Given the description of an element on the screen output the (x, y) to click on. 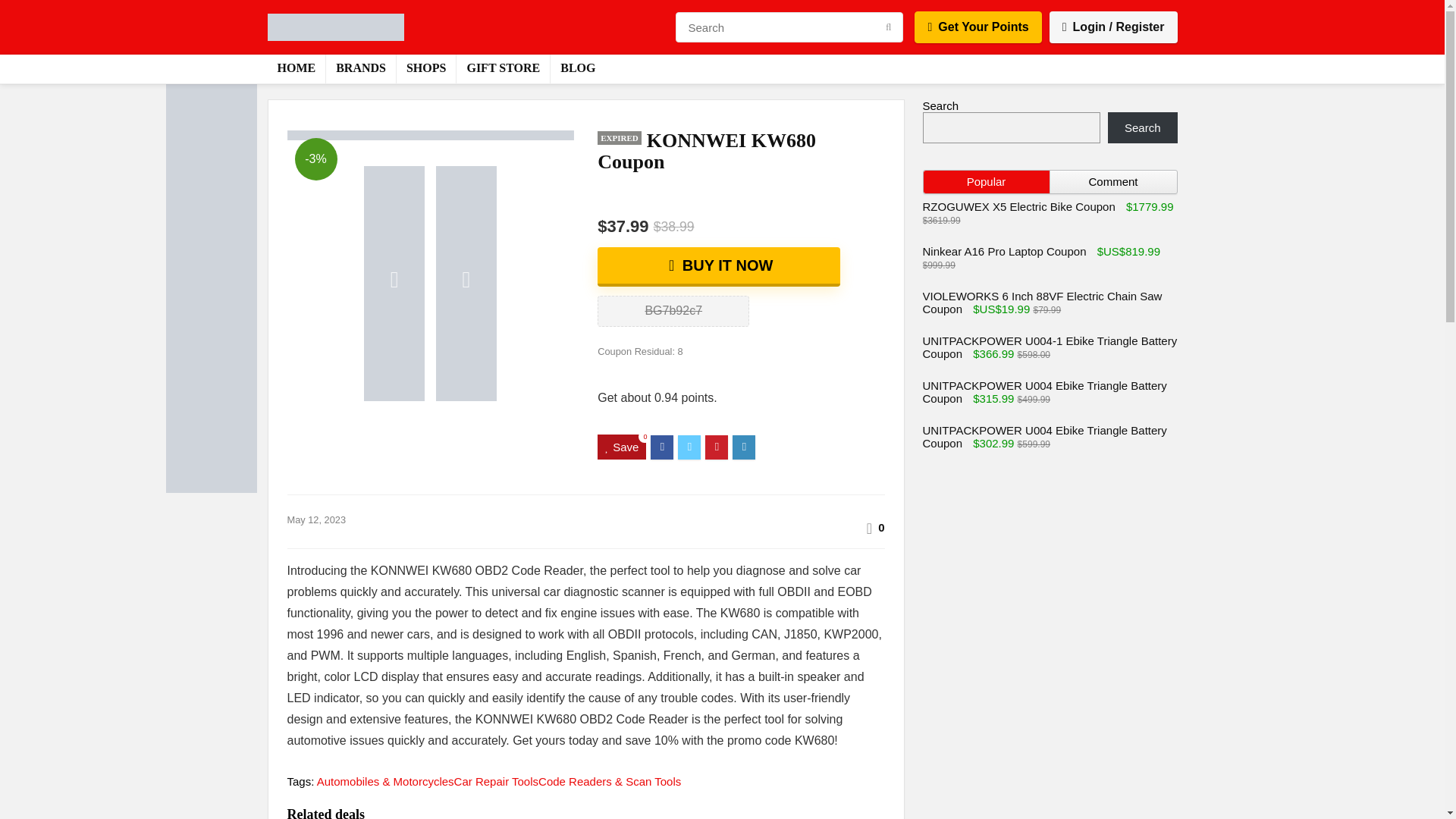
Ninkear A16 Pro Laptop Coupon (1003, 250)
VIOLEWORKS 6 Inch 88VF Electric Chain Saw Coupon (1041, 302)
UNITPACKPOWER U004-1 Ebike Triangle Battery Coupon (1048, 347)
UNITPACKPOWER U004 Ebike Triangle Battery Coupon (1043, 436)
RZOGUWEX X5 Electric Bike Coupon (1018, 205)
Get Your Points (977, 27)
Search (1142, 127)
BRANDS (361, 68)
GIFT STORE (503, 68)
UNITPACKPOWER U004 Ebike Triangle Battery Coupon (1043, 391)
0 (880, 526)
HOME (295, 68)
Car Repair Tools (496, 780)
BLOG (577, 68)
SHOPS (425, 68)
